Given the description of an element on the screen output the (x, y) to click on. 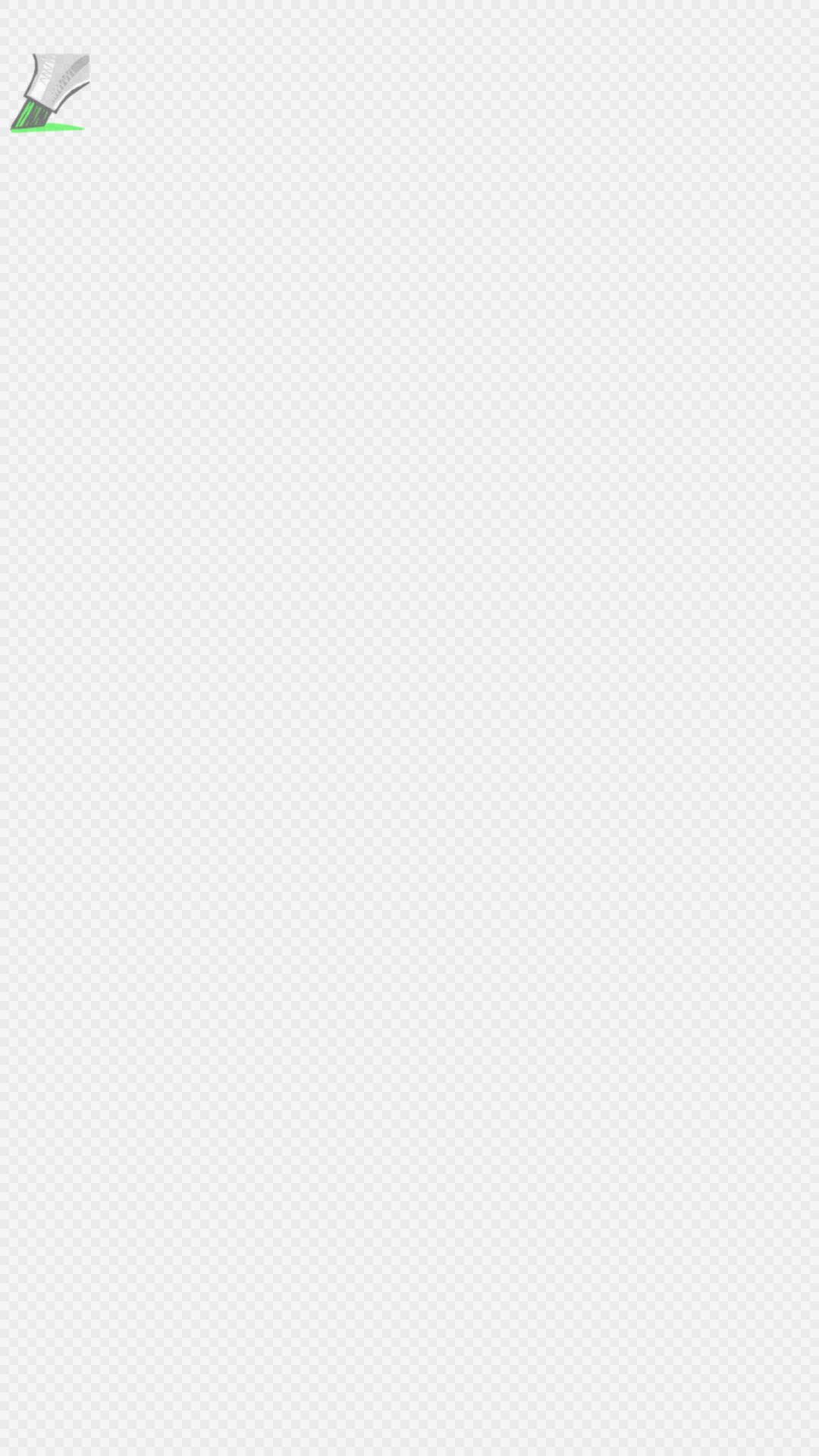
select a marker tool (47, 95)
